Given the description of an element on the screen output the (x, y) to click on. 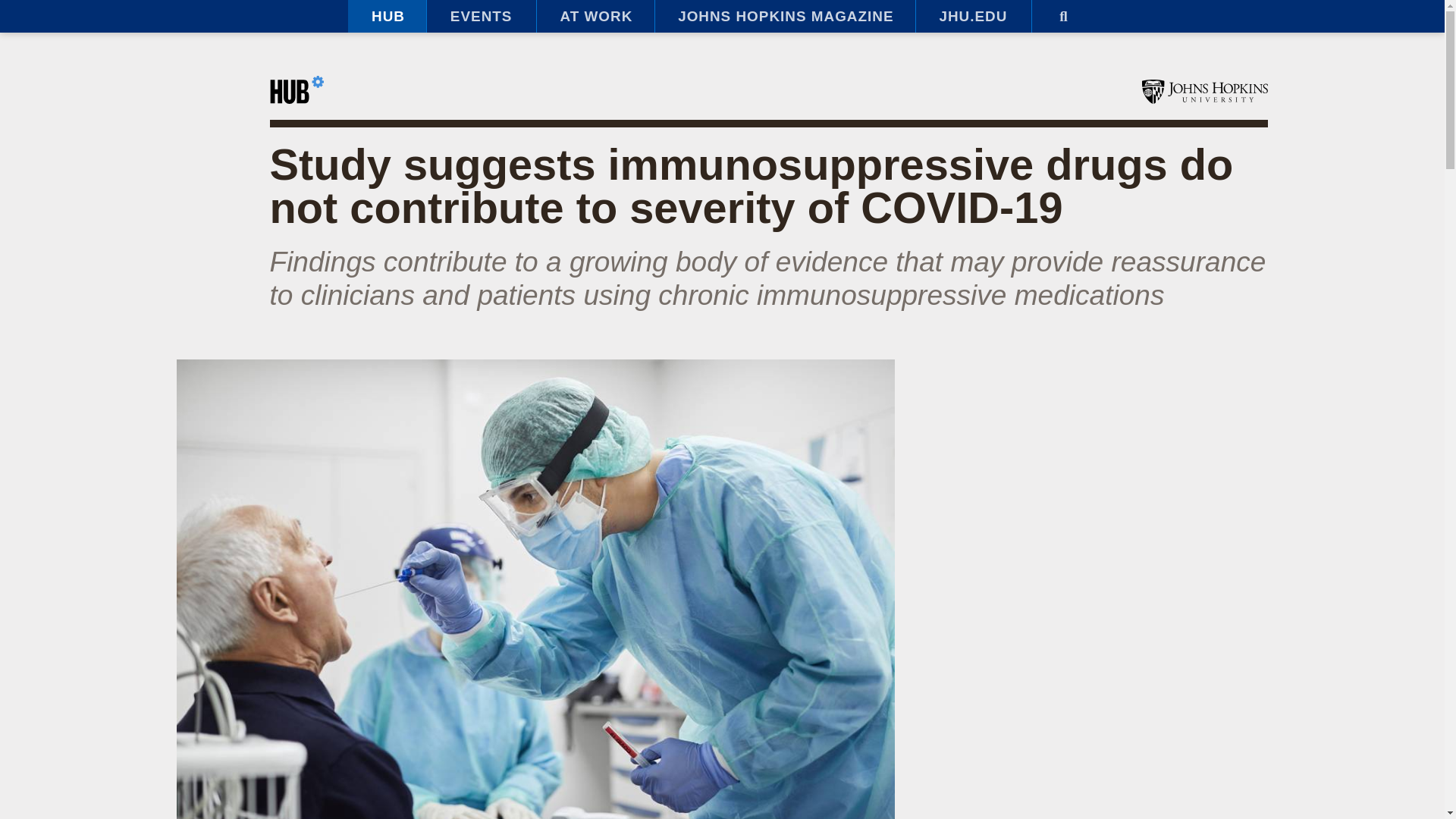
Johns Hopkins University (1204, 91)
JOHNS HOPKINS MAGAZINE (784, 16)
HUB (386, 16)
EVENTS (480, 16)
JHU.EDU (972, 16)
AT WORK (594, 16)
